Given the description of an element on the screen output the (x, y) to click on. 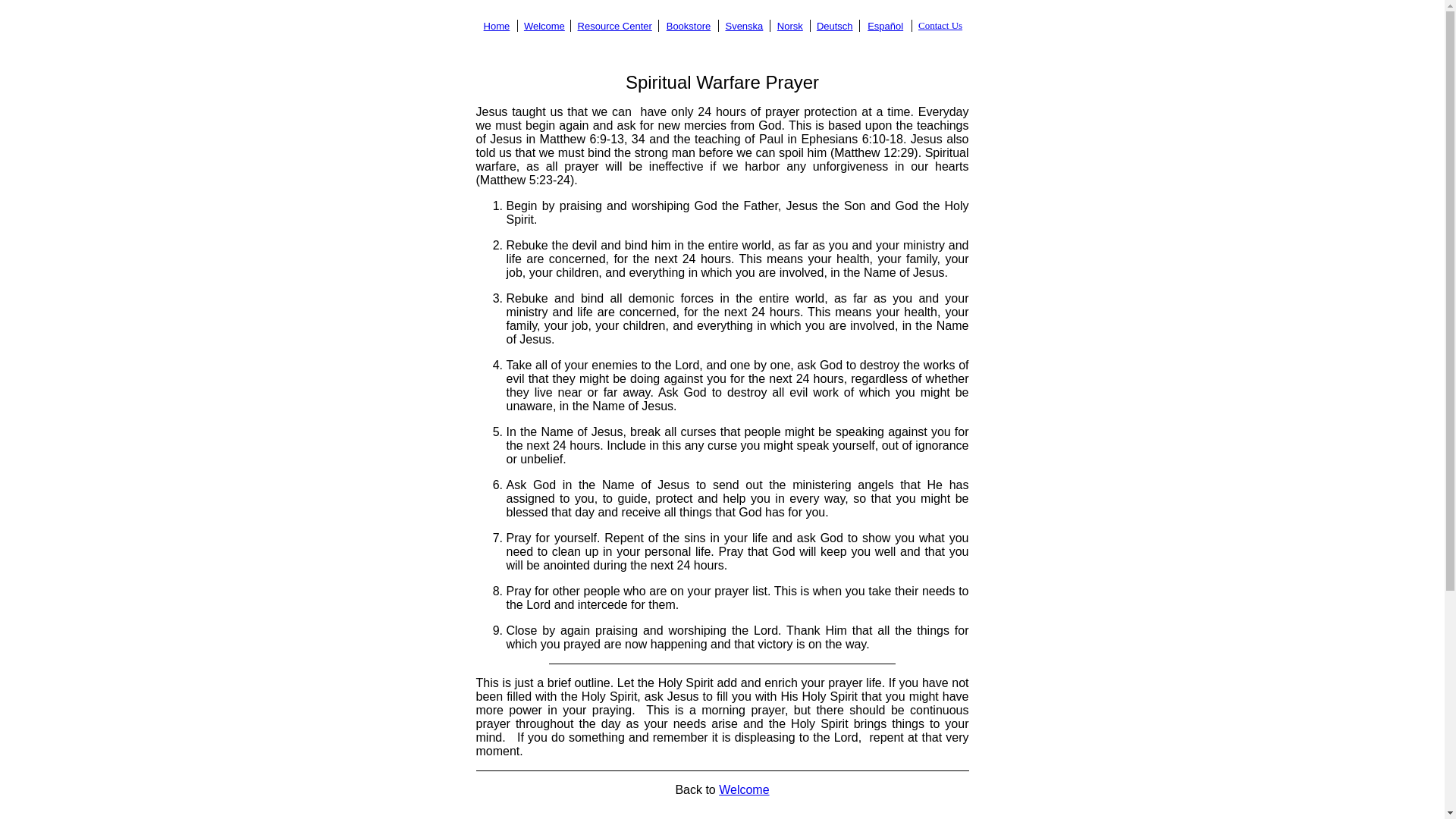
Bookstore (688, 25)
Norsk (790, 25)
Contact Us (940, 25)
Resource Center (615, 25)
Home (497, 25)
Svenska (743, 25)
Welcome (743, 789)
Welcome (544, 25)
Deutsch (834, 25)
